Given the description of an element on the screen output the (x, y) to click on. 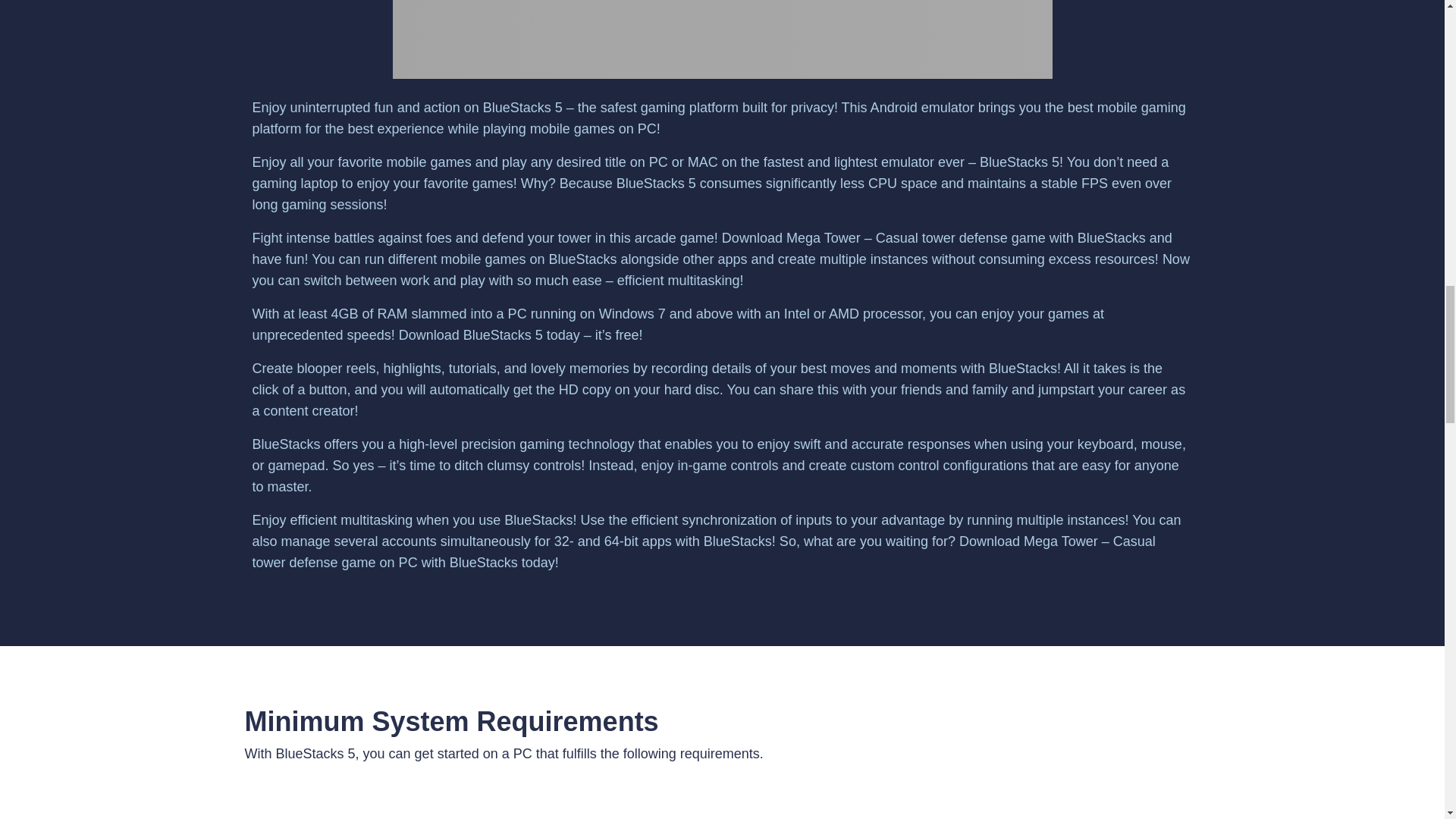
how-to-play-steps - desktop (722, 39)
